Given the description of an element on the screen output the (x, y) to click on. 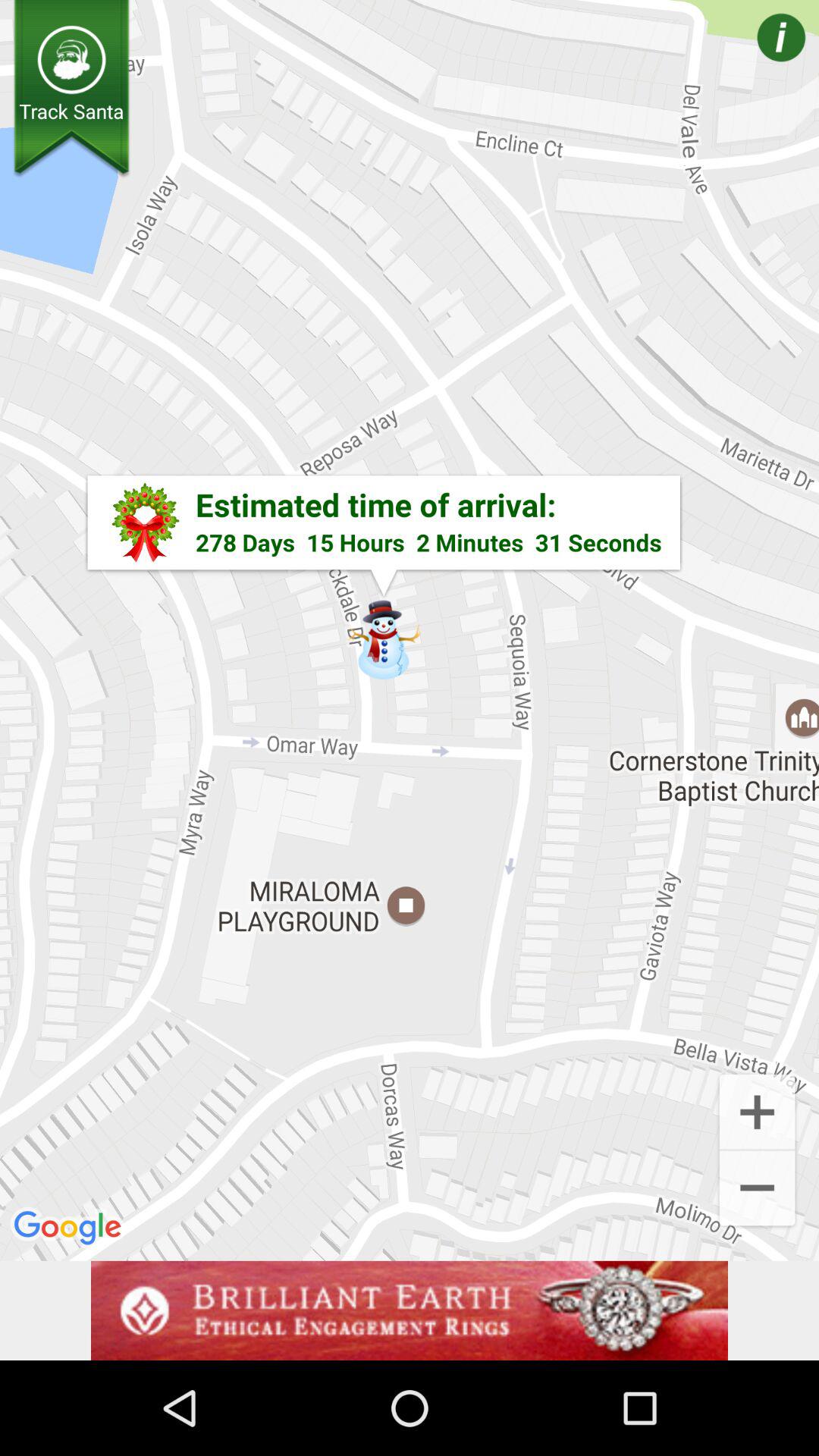
see more information (759, 59)
